Given the description of an element on the screen output the (x, y) to click on. 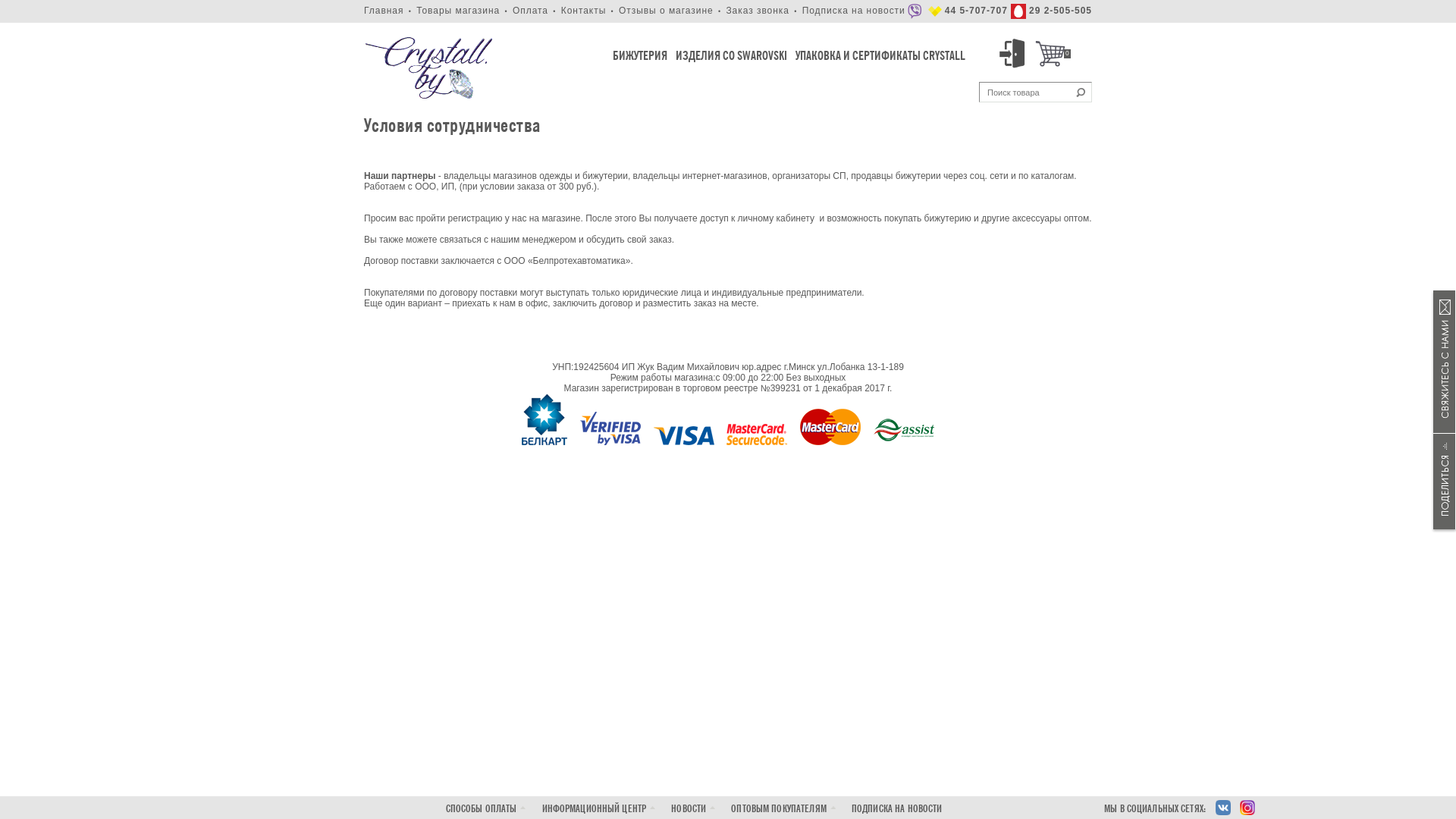
44 5-707-707 29 2-505-505 Element type: text (999, 10)
0 Element type: text (1053, 53)
